Given the description of an element on the screen output the (x, y) to click on. 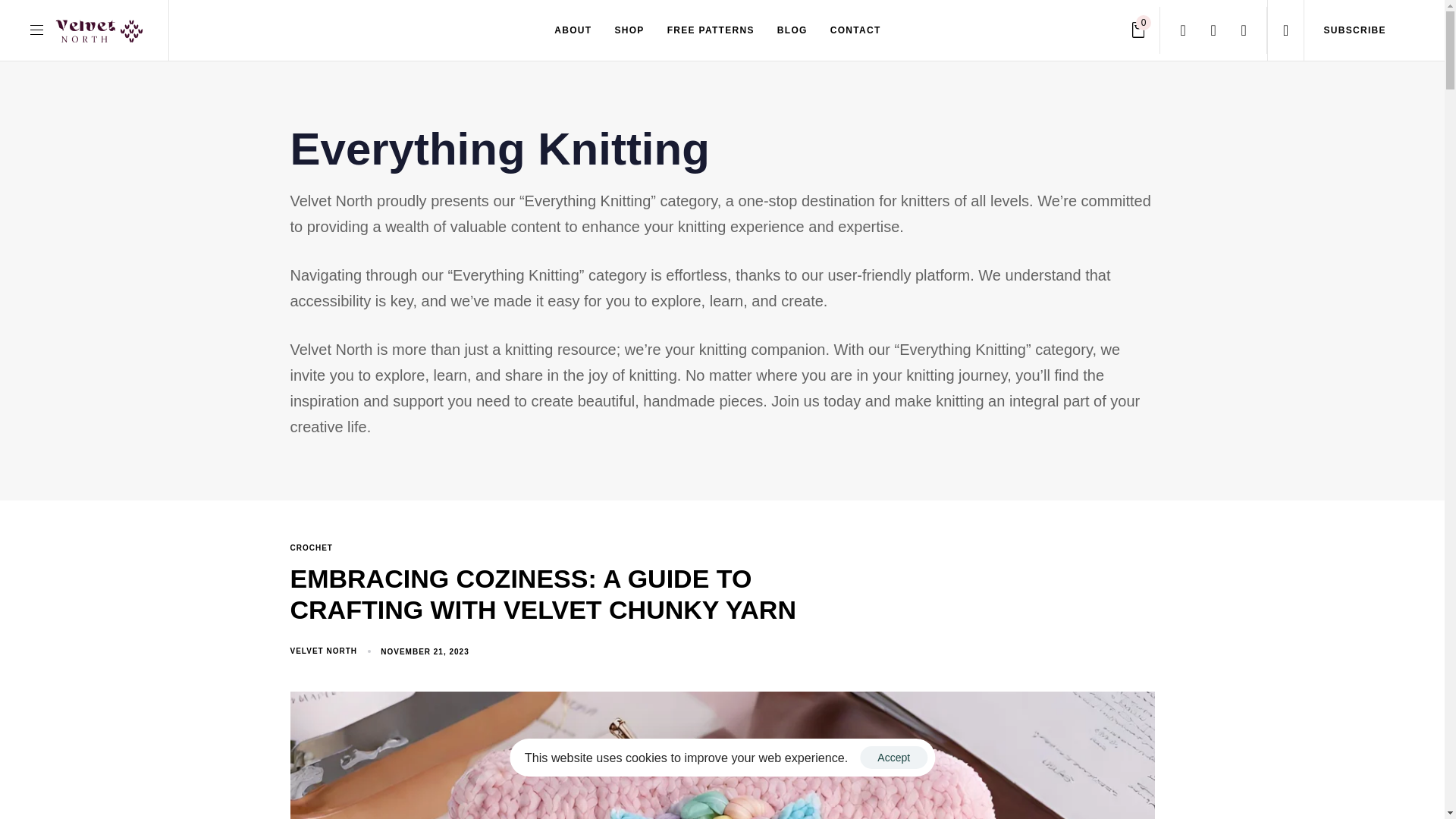
ABOUT (572, 30)
BLOG (791, 30)
CONTACT (855, 30)
SHOP (628, 30)
FREE PATTERNS (1354, 30)
